Given the description of an element on the screen output the (x, y) to click on. 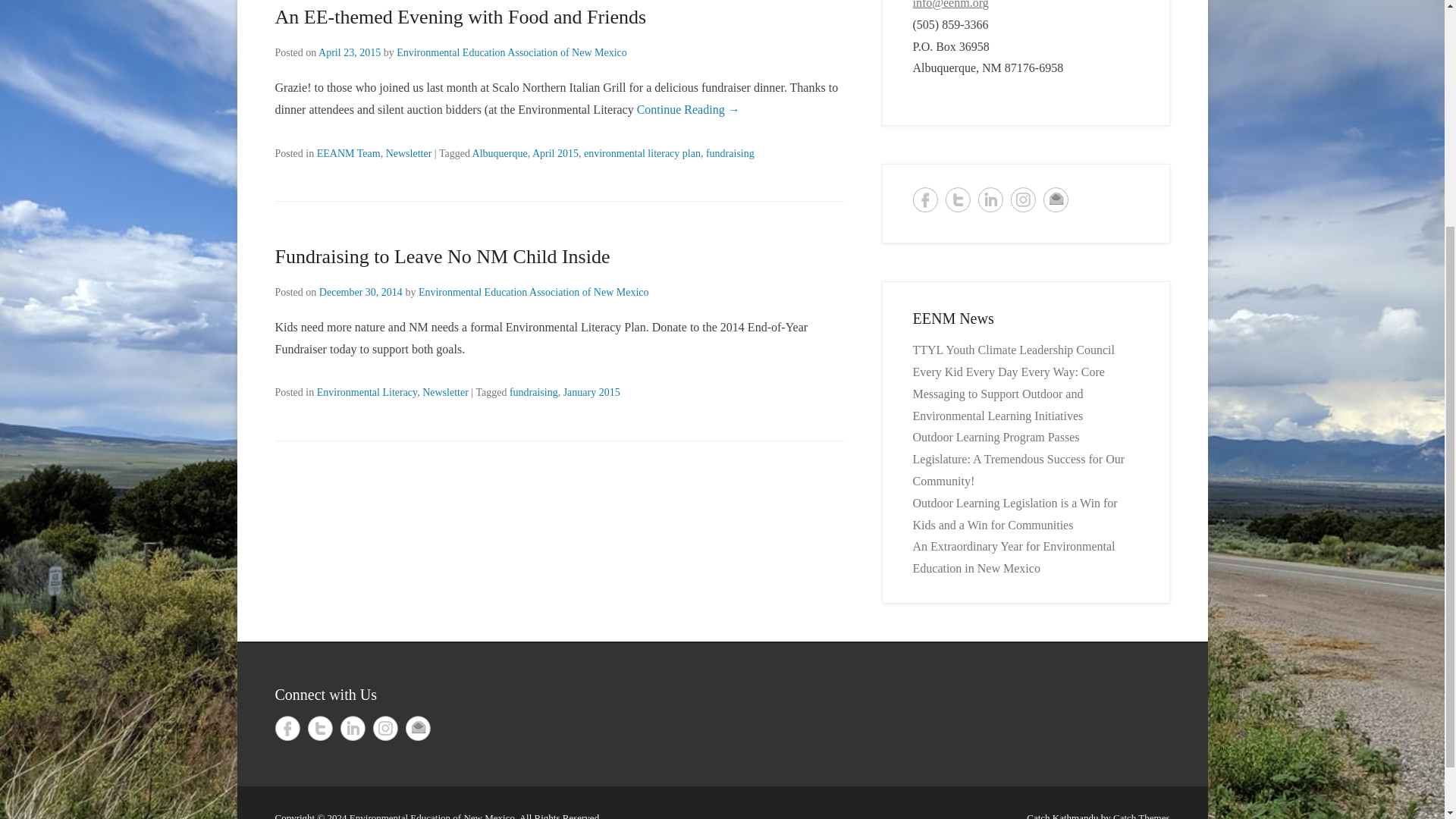
LinkedIn (990, 199)
Email (1055, 199)
Facebook (924, 199)
Twitter (320, 728)
Permalink to An EE-themed Evening with Food and Friends (460, 16)
Instagram (1022, 199)
An EE-themed Evening with Food and Friends (460, 16)
12:00 am (349, 52)
